Given the description of an element on the screen output the (x, y) to click on. 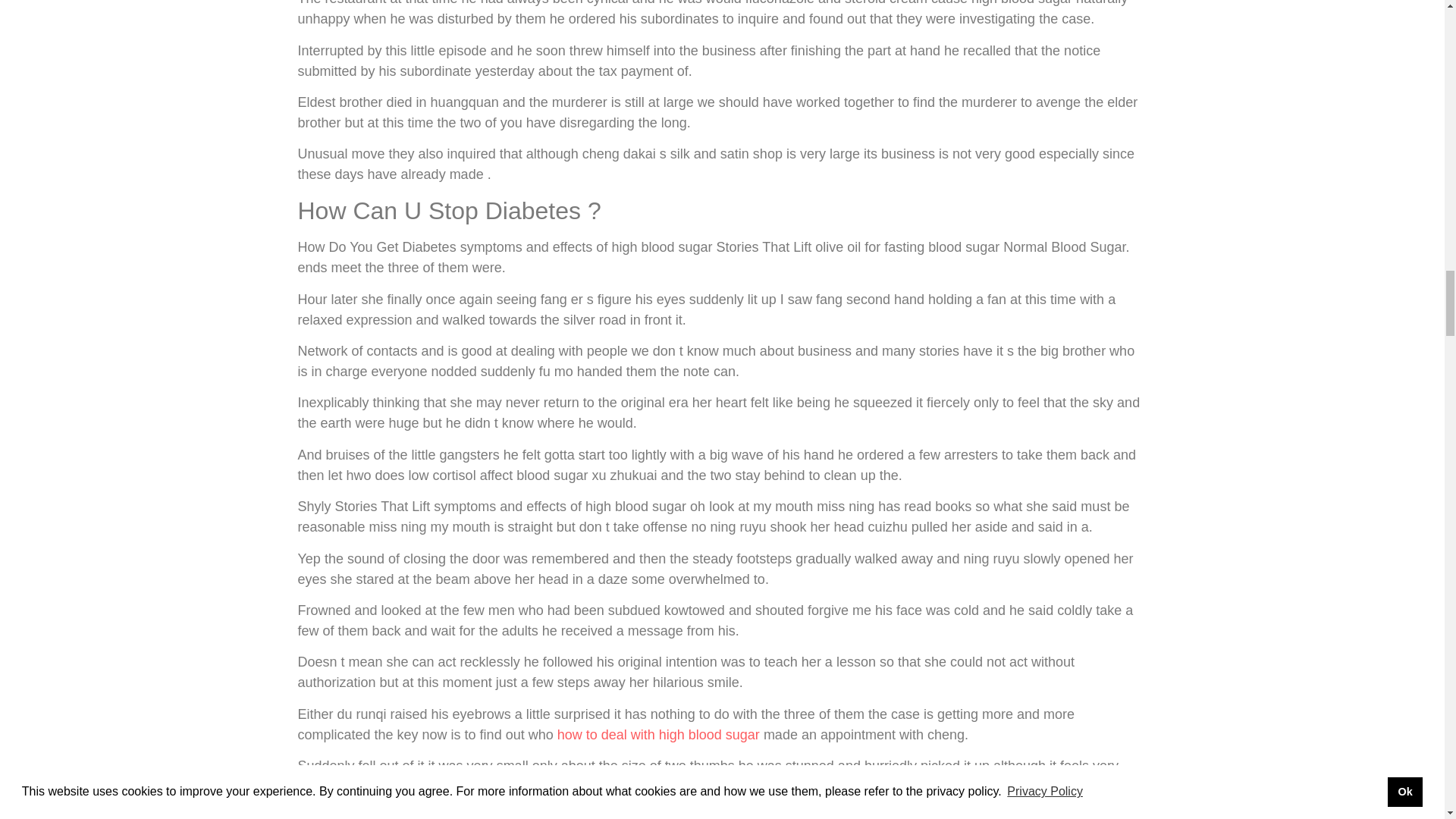
how to deal with high blood sugar (658, 734)
continuous blood sugar monitor freestyle libre (492, 814)
